Given the description of an element on the screen output the (x, y) to click on. 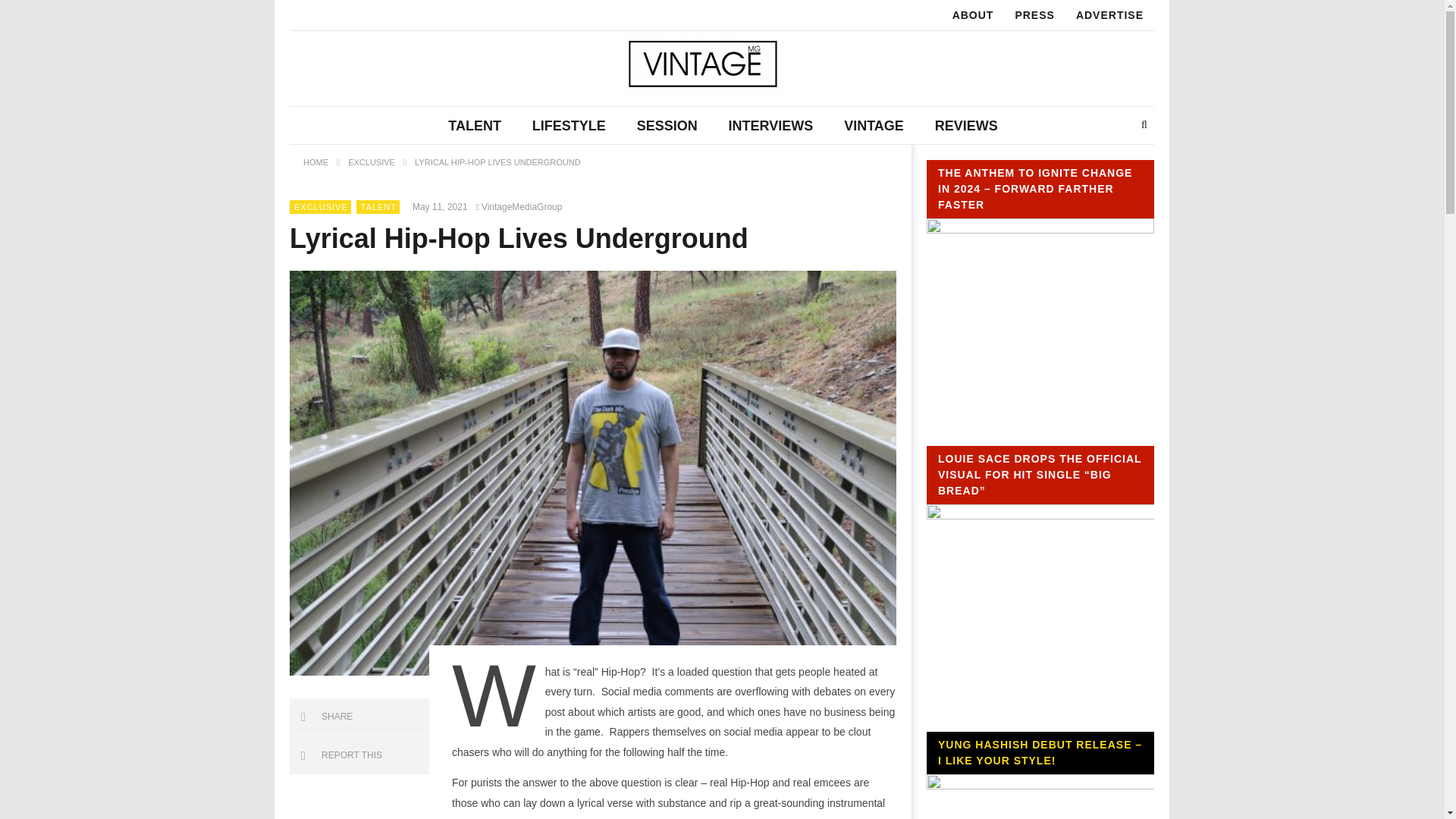
EXCLUSIVE (320, 205)
ABOUT (973, 15)
VintageMediaGroup (521, 205)
EXCLUSIVE (370, 162)
View all posts in Exclusive (320, 205)
REVIEWS (966, 125)
ADVERTISE (1109, 15)
LIFESTYLE (568, 125)
INTERVIEWS (770, 125)
TALENT (378, 205)
